Given the description of an element on the screen output the (x, y) to click on. 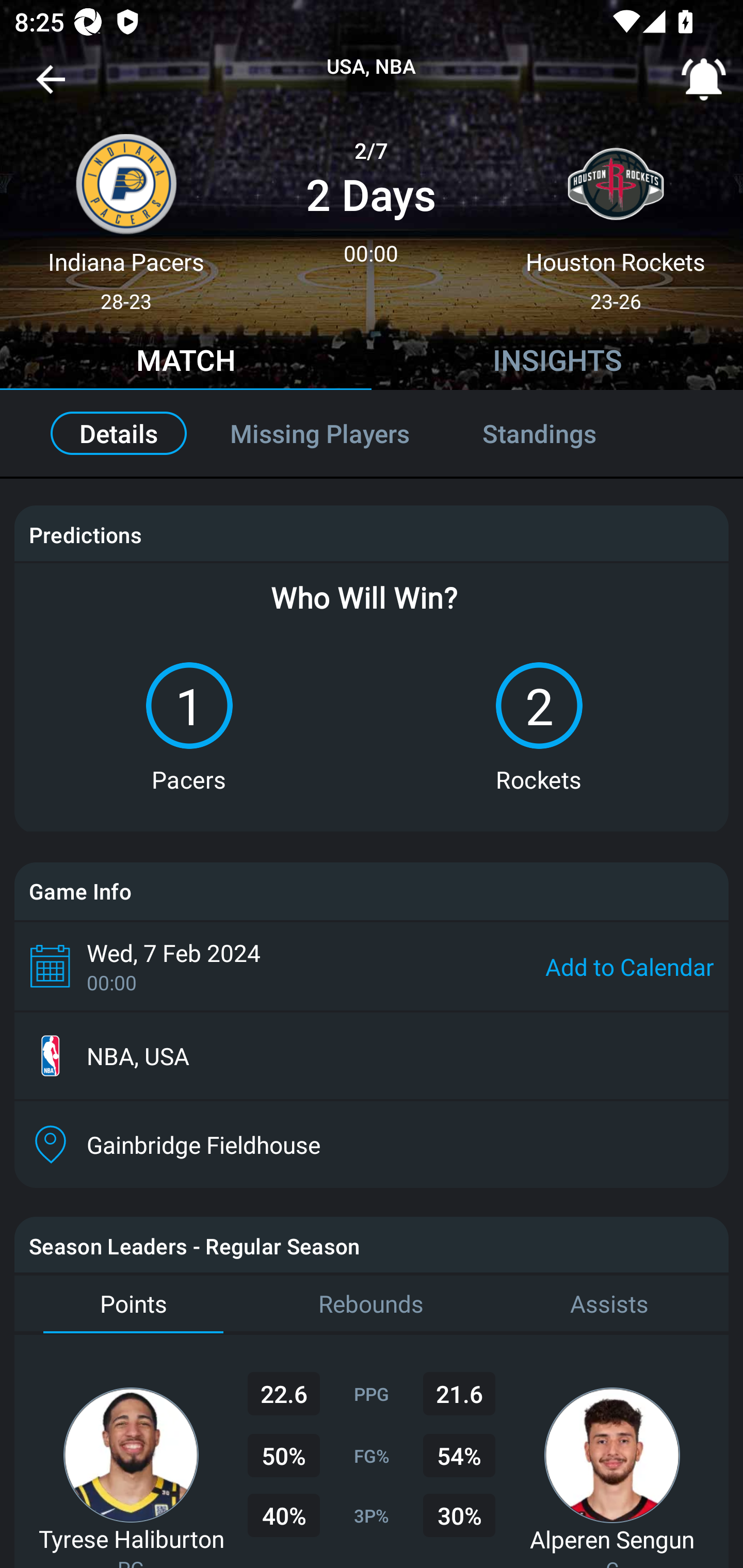
Navigate up (50, 86)
USA, NBA (371, 66)
Indiana Pacers 28-23 (126, 214)
Houston Rockets 23-26 (616, 214)
MATCH (185, 362)
INSIGHTS (557, 362)
Missing Players (319, 433)
Standings (561, 433)
Predictions (85, 534)
1 (189, 705)
2 (538, 705)
Game Info (371, 891)
Wed, 7 Feb 2024 00:00 Add to Calendar (371, 965)
NBA, USA (371, 1055)
Gainbridge Fieldhouse (371, 1144)
Rebounds (371, 1303)
Assists (609, 1303)
Tyrese Haliburton (131, 1537)
Alperen Sengun (611, 1538)
